Given the description of an element on the screen output the (x, y) to click on. 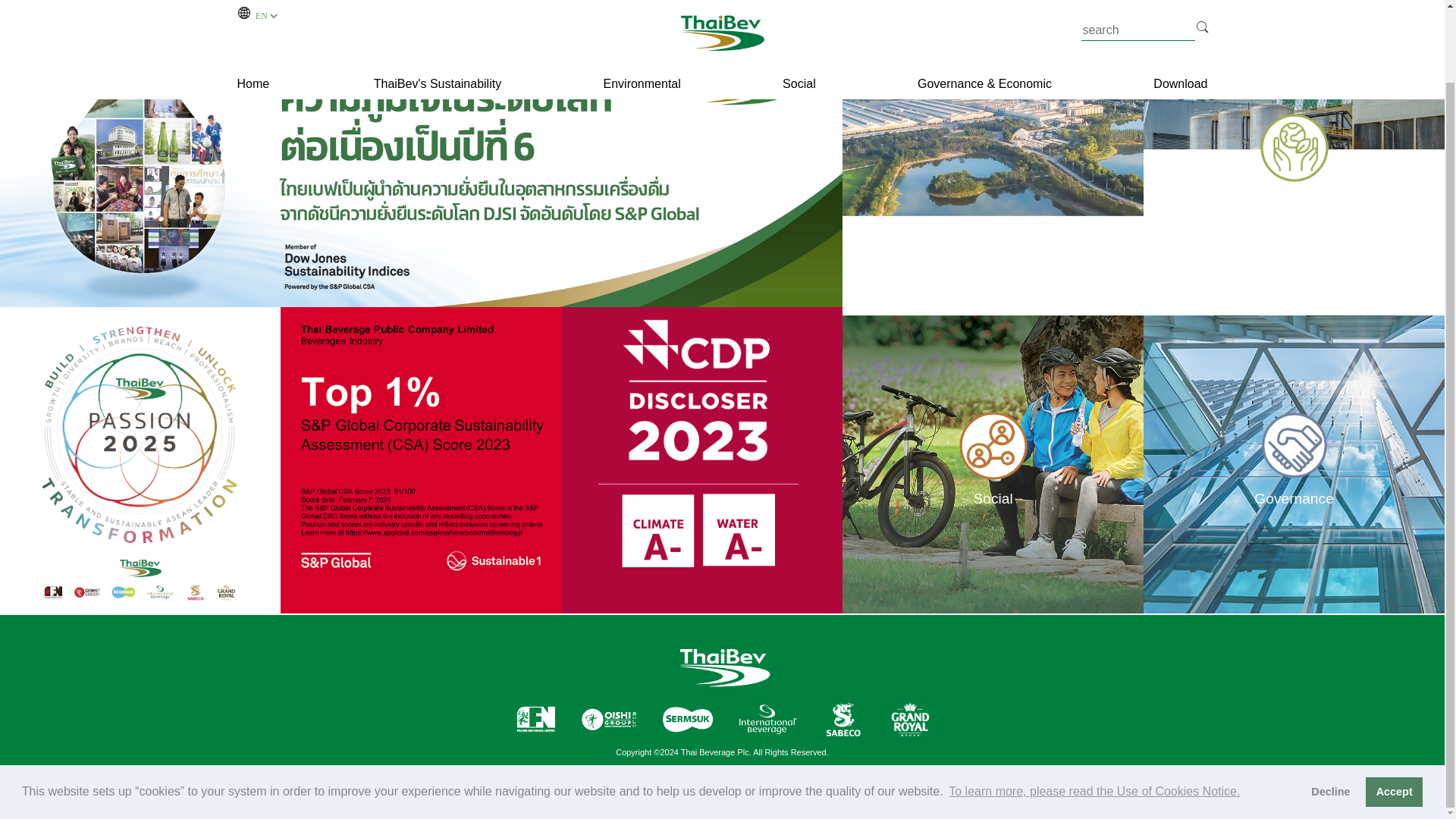
Download (1179, 8)
Environmental (641, 8)
ThaiBev's Sustainability (437, 8)
Decline (1330, 711)
Home (254, 9)
Social (799, 8)
Accept (1393, 711)
To learn more, please read the Use of Cookies Notice. (1094, 711)
